Given the description of an element on the screen output the (x, y) to click on. 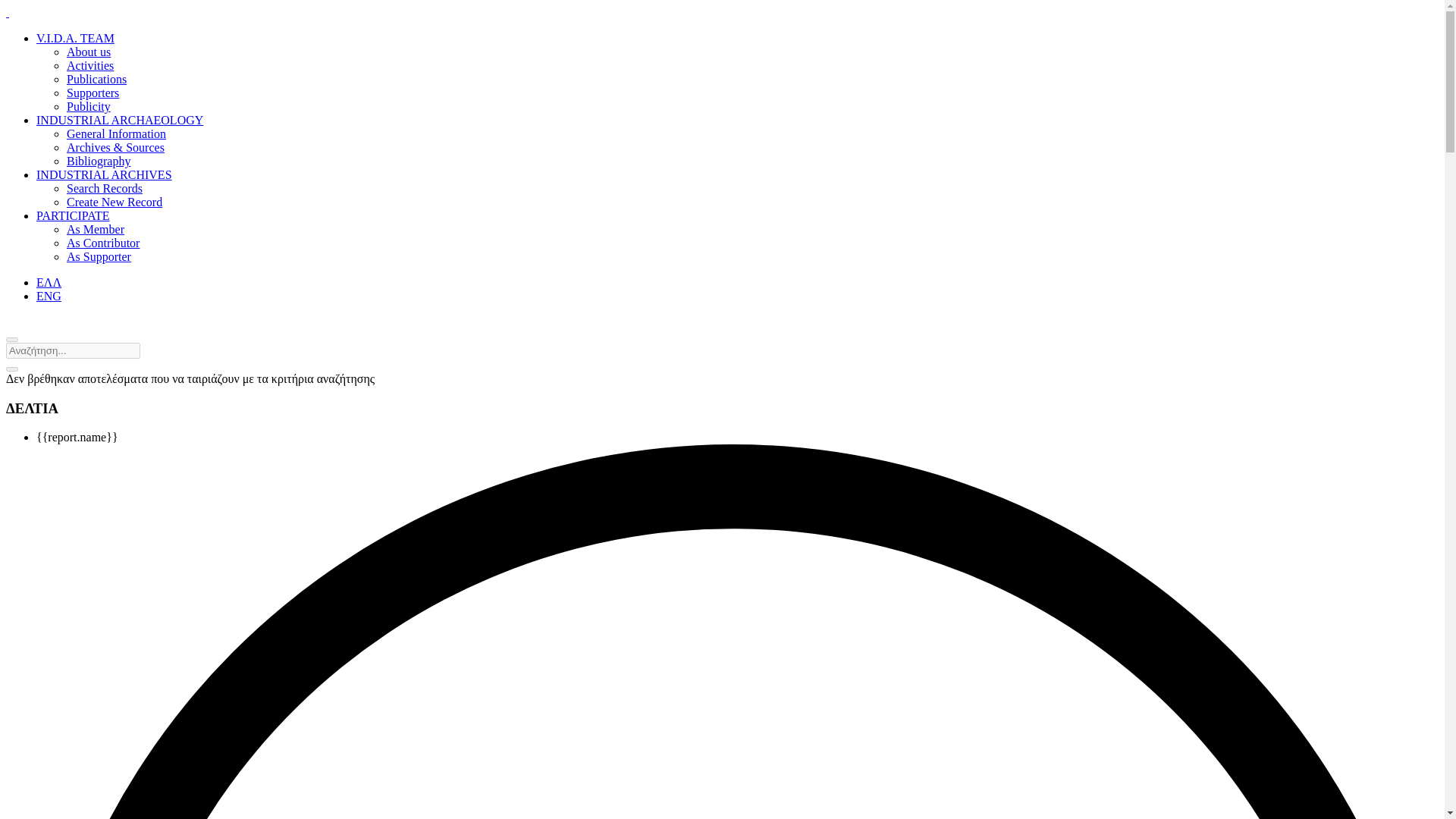
As Supporter (98, 256)
Create New Record (113, 201)
Publications (96, 78)
General Information (115, 133)
Publicity (88, 106)
Activities (89, 65)
V.I.D.A. TEAM (75, 38)
INDUSTRIAL ARCHAEOLOGY (119, 119)
Search Records (104, 187)
As Contributor (102, 242)
Supporters (92, 92)
PARTICIPATE (73, 215)
As Member (94, 228)
Bibliography (98, 160)
INDUSTRIAL ARCHIVES (103, 174)
